Given the description of an element on the screen output the (x, y) to click on. 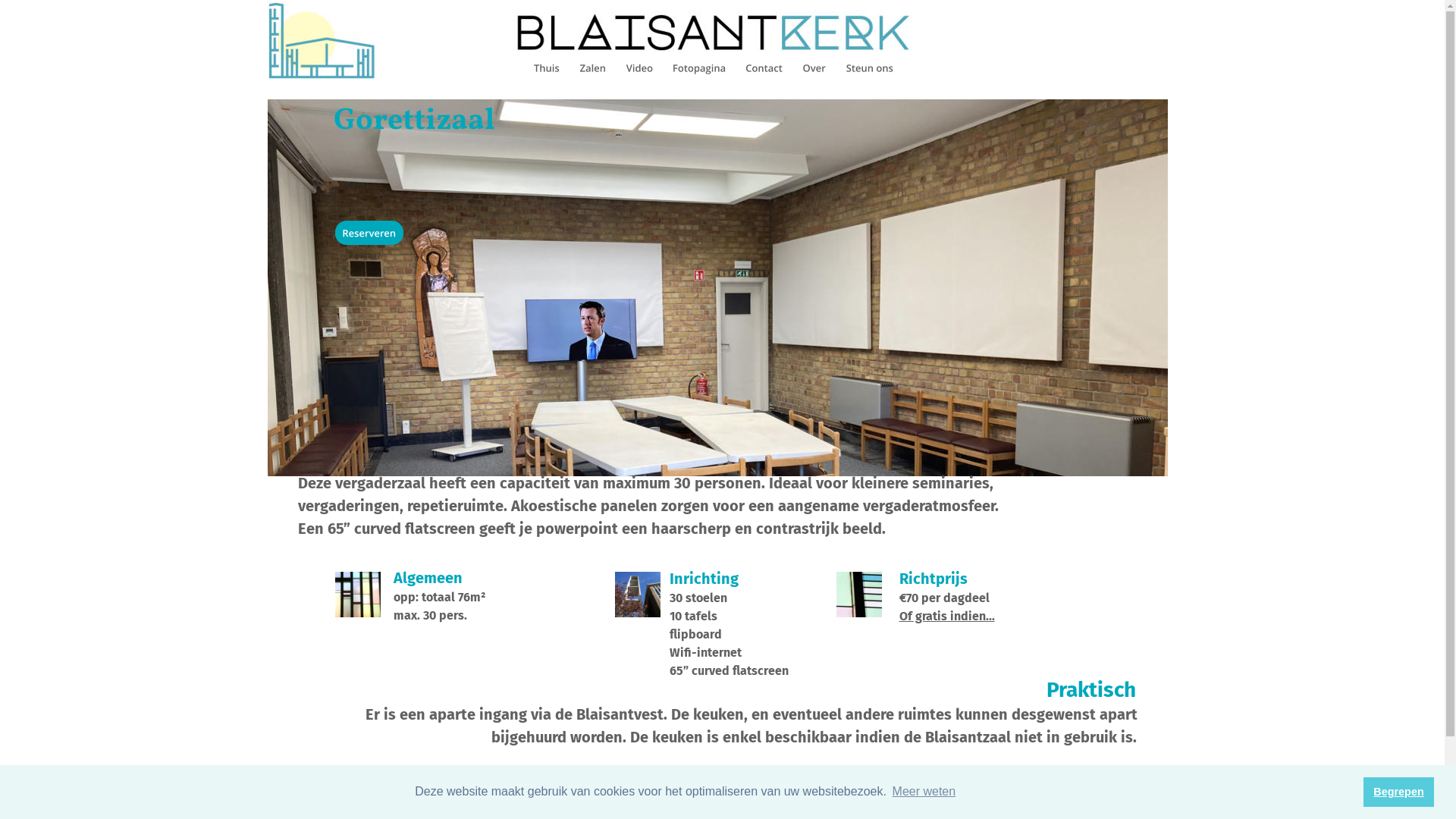
Blaisantzaal Element type: text (666, 798)
Meer weten Element type: text (923, 791)
Contact Element type: text (758, 811)
3 Element type: text (715, 507)
info@blaisantkerk.be Element type: text (501, 800)
5 Element type: text (741, 507)
6 Element type: text (754, 507)
Lounge Element type: text (655, 811)
4 Element type: text (729, 507)
2 Element type: text (703, 507)
1 Element type: text (689, 507)
Begrepen Element type: text (1398, 791)
Thuis Element type: text (752, 798)
